Given the description of an element on the screen output the (x, y) to click on. 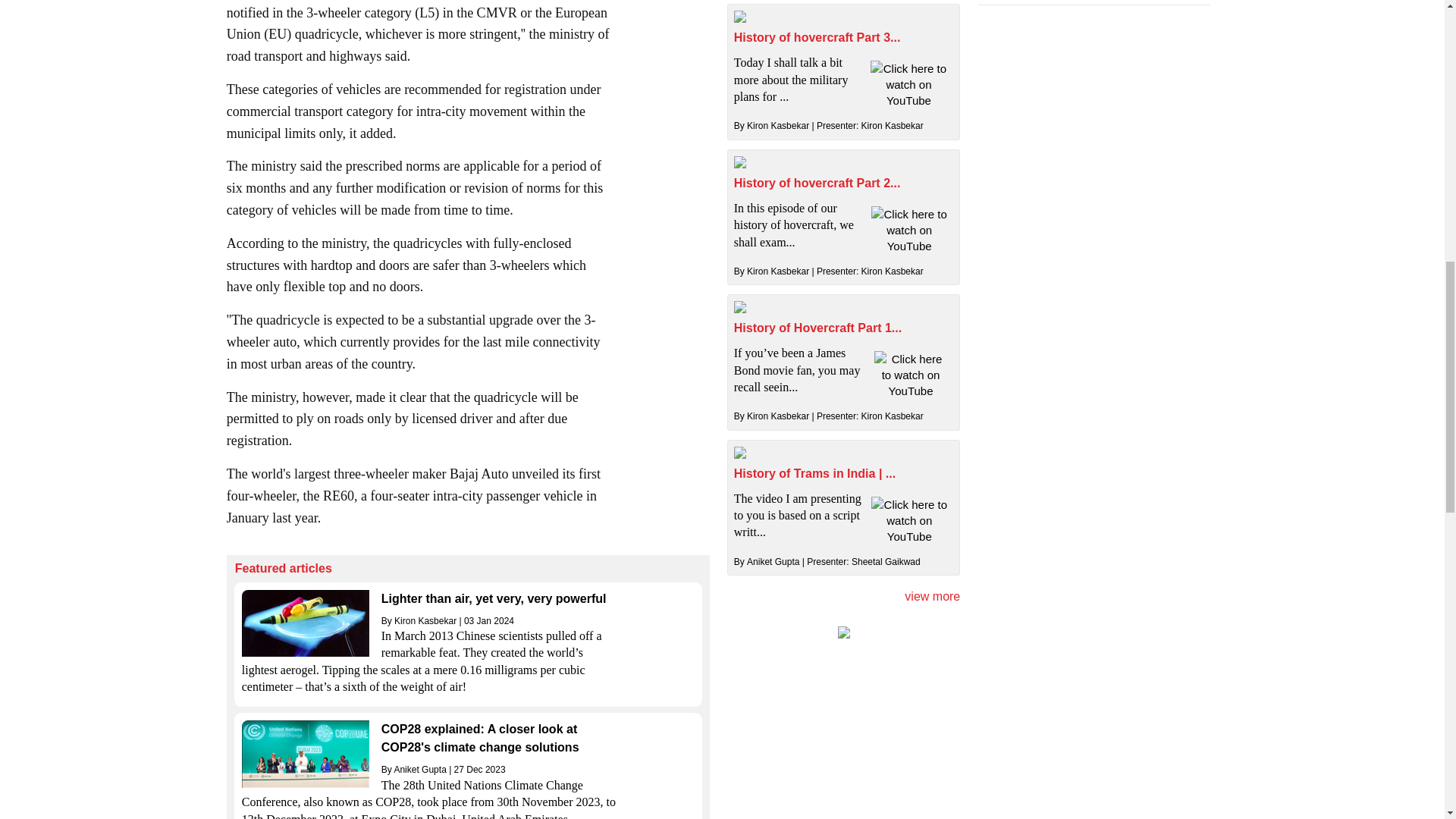
Click here to watch on YouTube (908, 84)
Click here to watch on YouTube (908, 229)
